Given the description of an element on the screen output the (x, y) to click on. 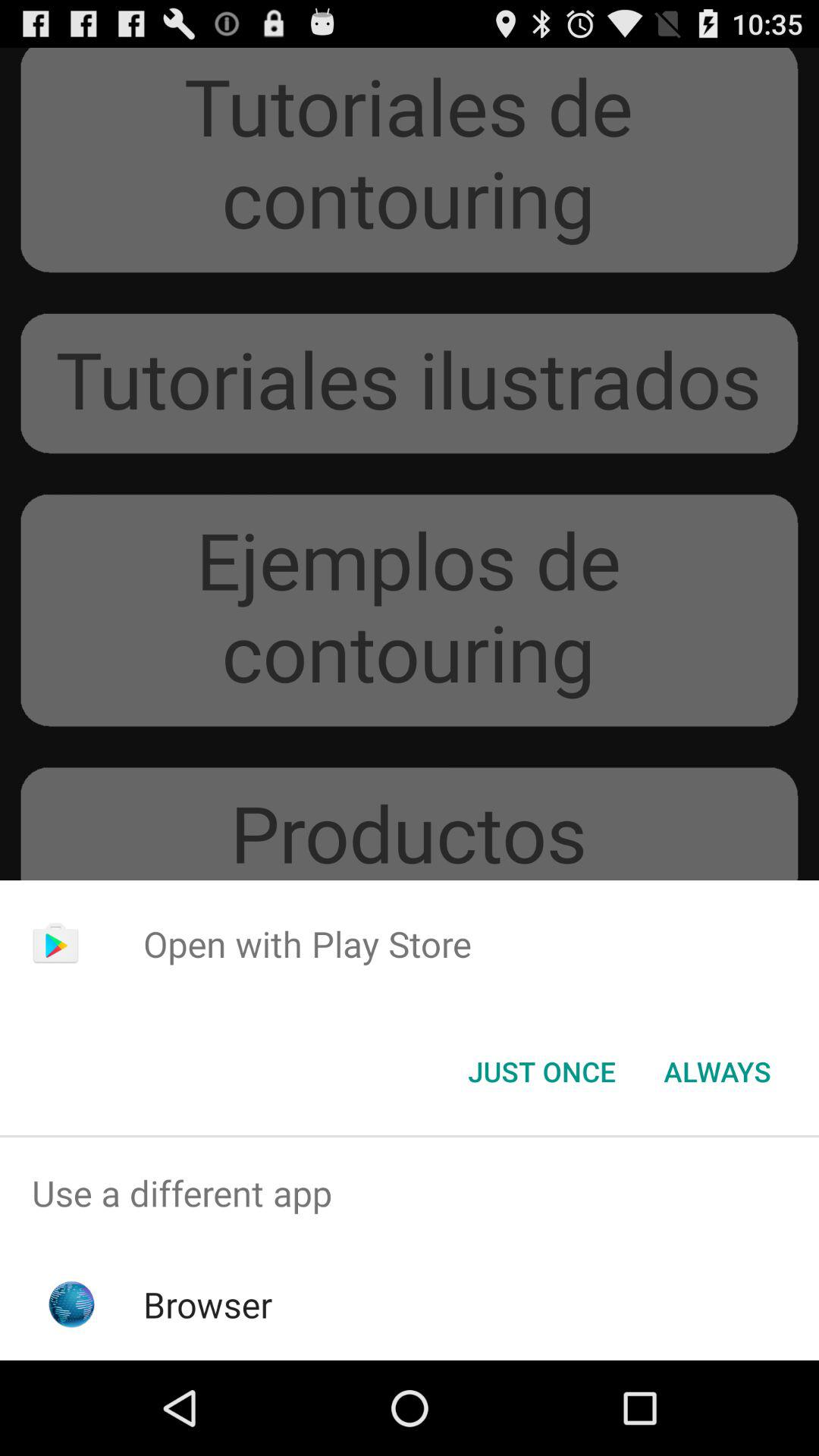
swipe to browser icon (207, 1304)
